Given the description of an element on the screen output the (x, y) to click on. 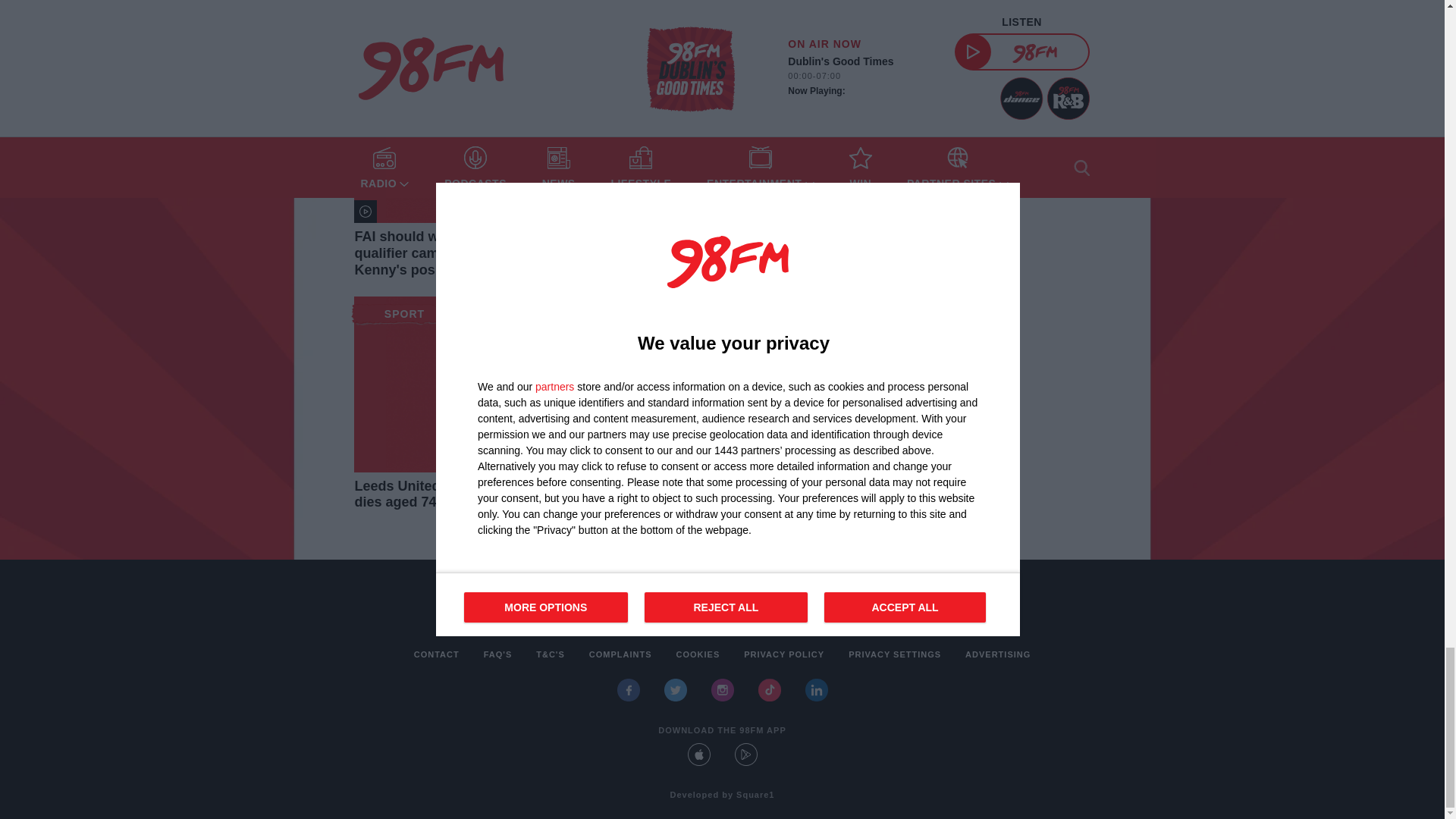
FAQ's (497, 654)
Contact (436, 654)
